Given the description of an element on the screen output the (x, y) to click on. 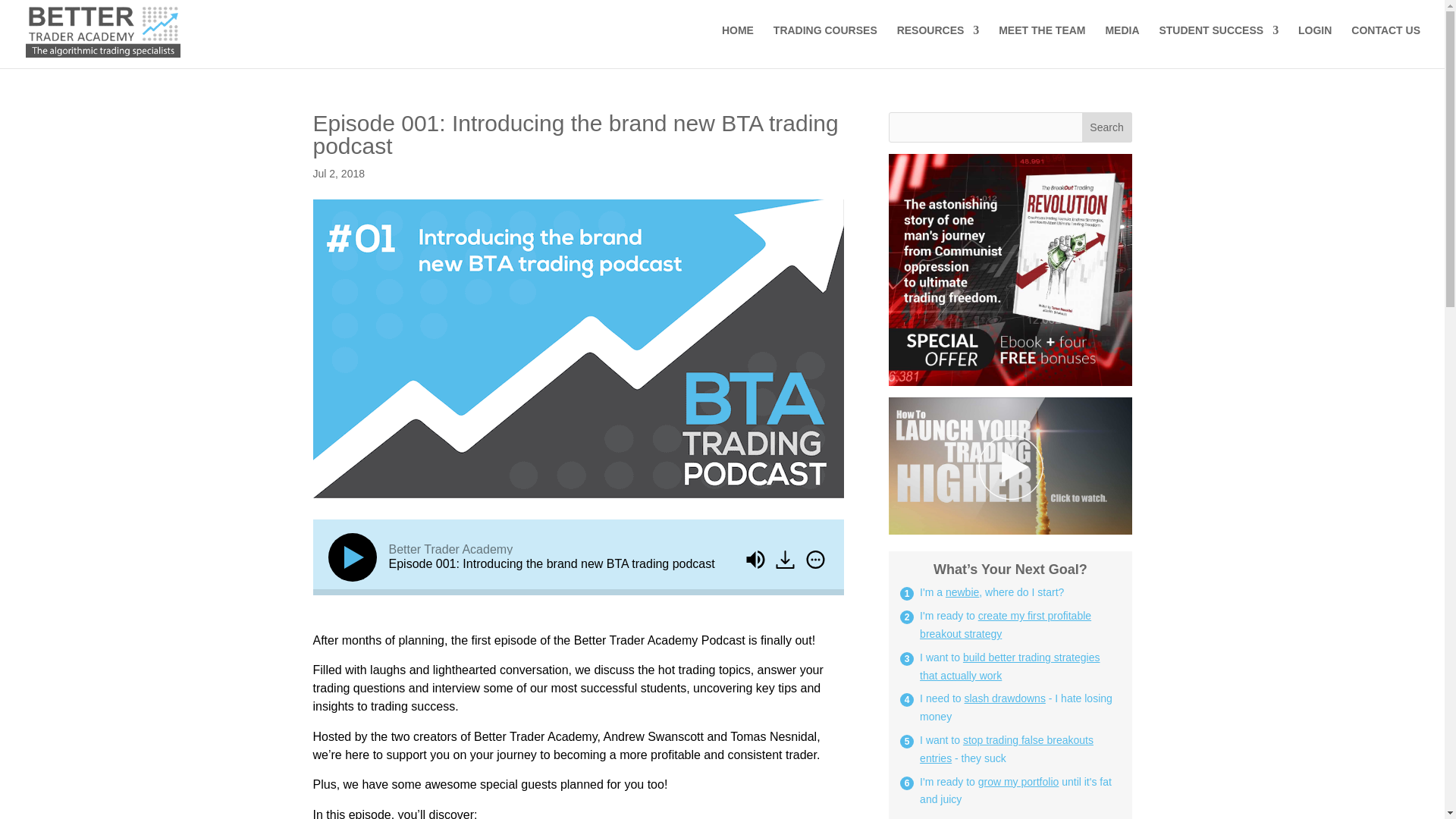
LOGIN (1315, 42)
MEDIA (1121, 42)
MEET THE TEAM (1041, 42)
More (815, 559)
TRADING COURSES (825, 42)
HOME (738, 42)
RESOURCES (937, 42)
CONTACT US (1386, 42)
Download (784, 559)
STUDENT SUCCESS (1218, 42)
Download (786, 560)
